Given the description of an element on the screen output the (x, y) to click on. 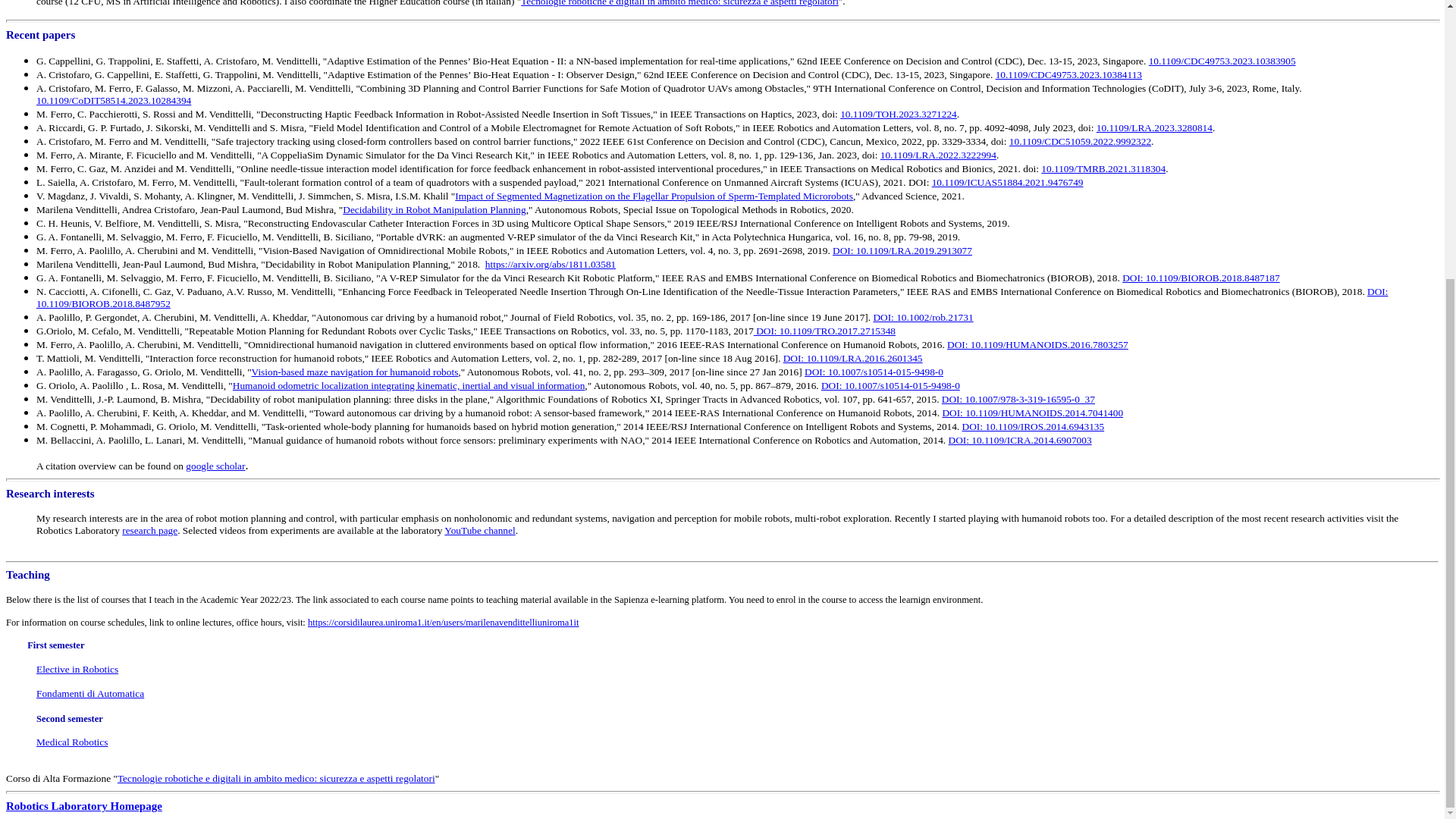
research page (149, 530)
Vision-based maze navigation for humanoid robots (354, 371)
Decidability in Robot Manipulation Planning (433, 209)
google scholar (215, 465)
